Given the description of an element on the screen output the (x, y) to click on. 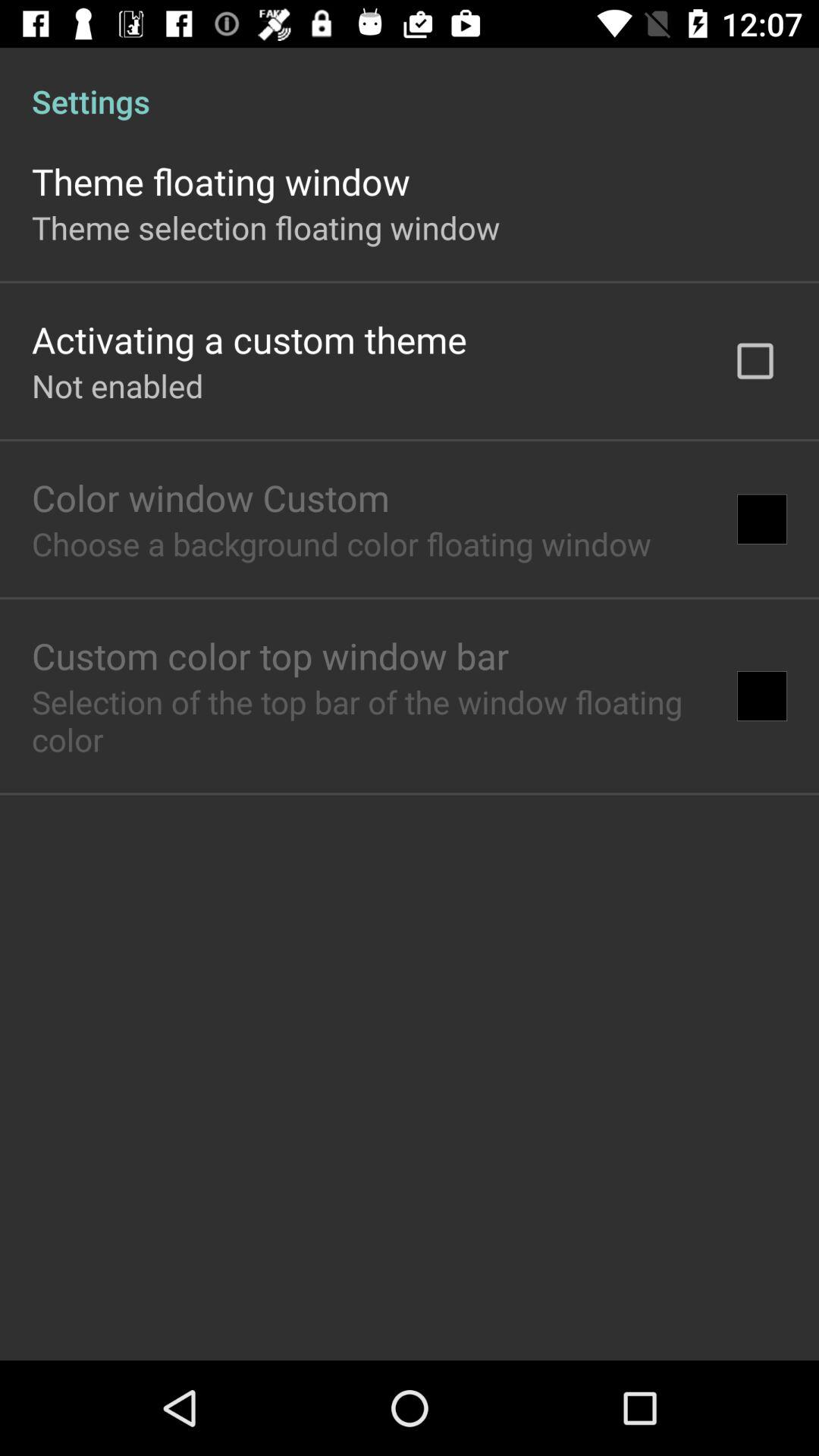
launch the app below custom color top (368, 720)
